Given the description of an element on the screen output the (x, y) to click on. 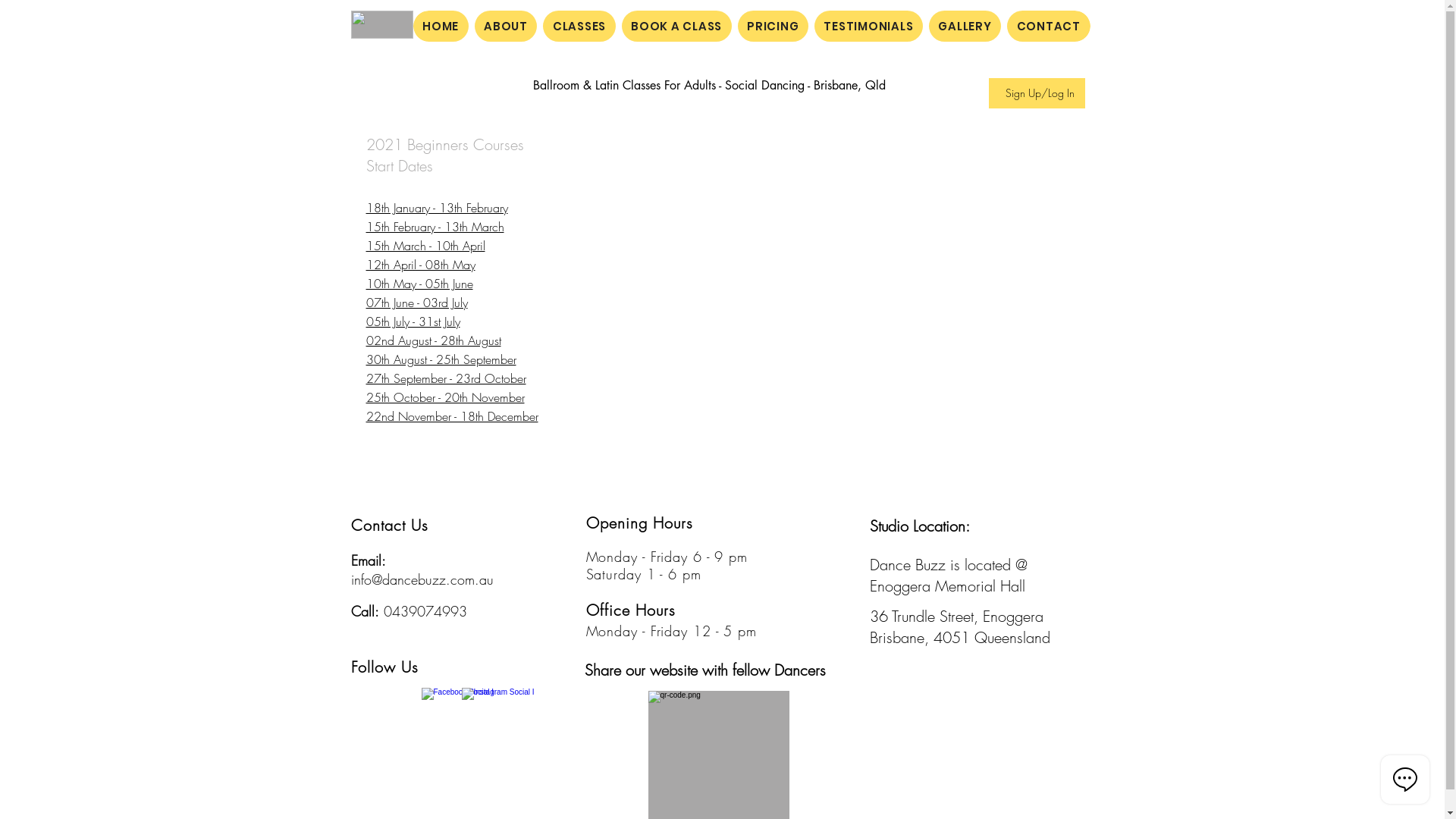
15th February - 13th March Element type: text (434, 227)
07th June - 03rd July Element type: text (416, 303)
ABOUT Element type: text (505, 25)
CONTACT Element type: text (1048, 25)
05th July - 31st July Element type: text (412, 322)
TESTIMONIALS Element type: text (868, 25)
18th January - 13th February Element type: text (436, 208)
12th April - 08th May Element type: text (419, 265)
27th September - 23rd October Element type: text (445, 379)
25th October - 20th November Element type: text (444, 398)
GALLERY Element type: text (964, 25)
HOME Element type: text (439, 25)
02nd August - 28th August Element type: text (432, 341)
30th August - 25th September Element type: text (440, 360)
22nd November - 18th December Element type: text (451, 417)
15th March - 10th April Element type: text (424, 246)
Facebook Like Element type: hover (379, 701)
Sign Up/Log In Element type: text (1039, 93)
10th May - 05th June Element type: text (418, 284)
PRICING Element type: text (772, 25)
BOOK A CLASS Element type: text (676, 25)
info@dancebuzz.com.au Element type: text (421, 579)
